Given the description of an element on the screen output the (x, y) to click on. 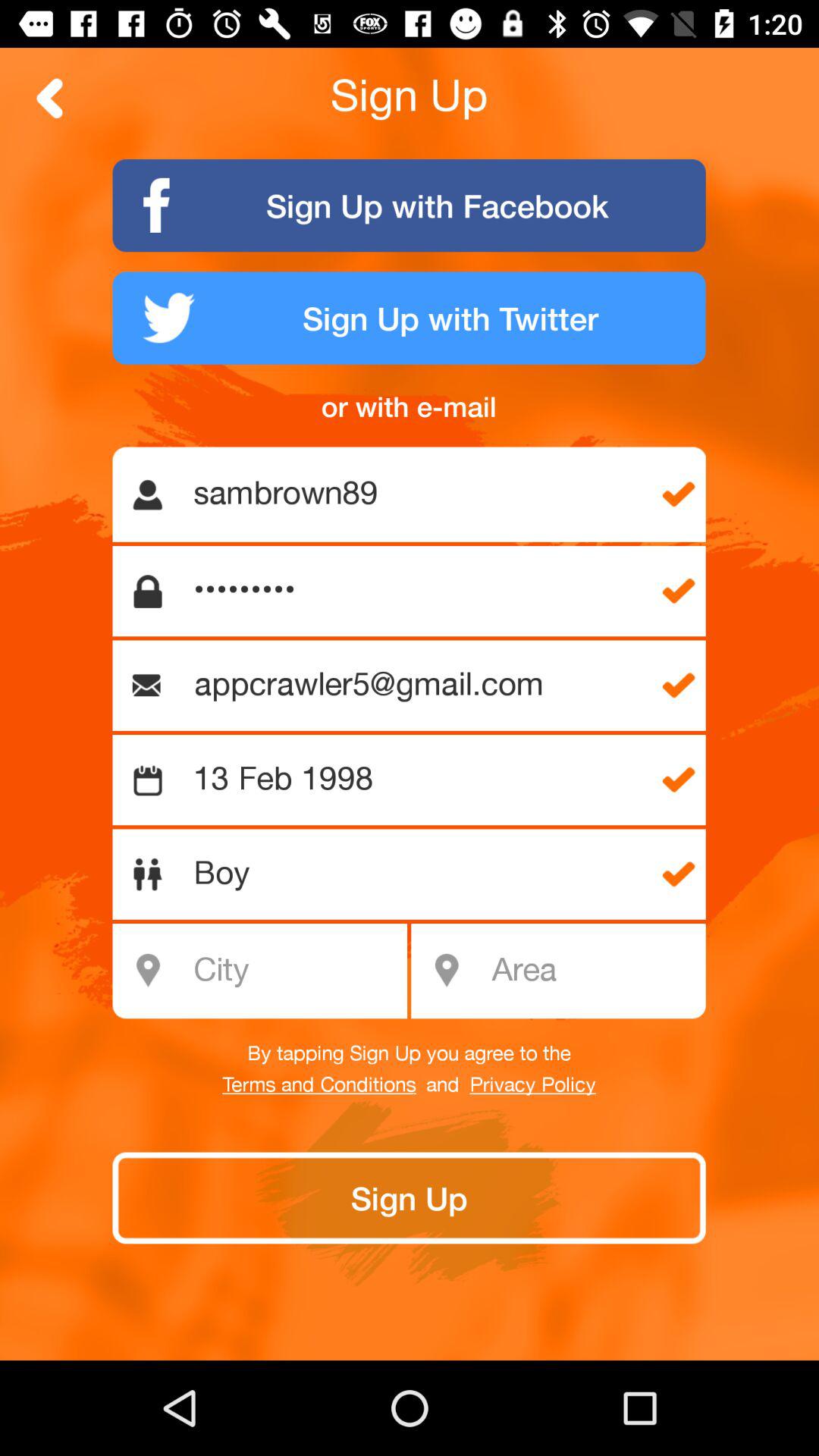
swipe to the terms and conditions (319, 1085)
